Given the description of an element on the screen output the (x, y) to click on. 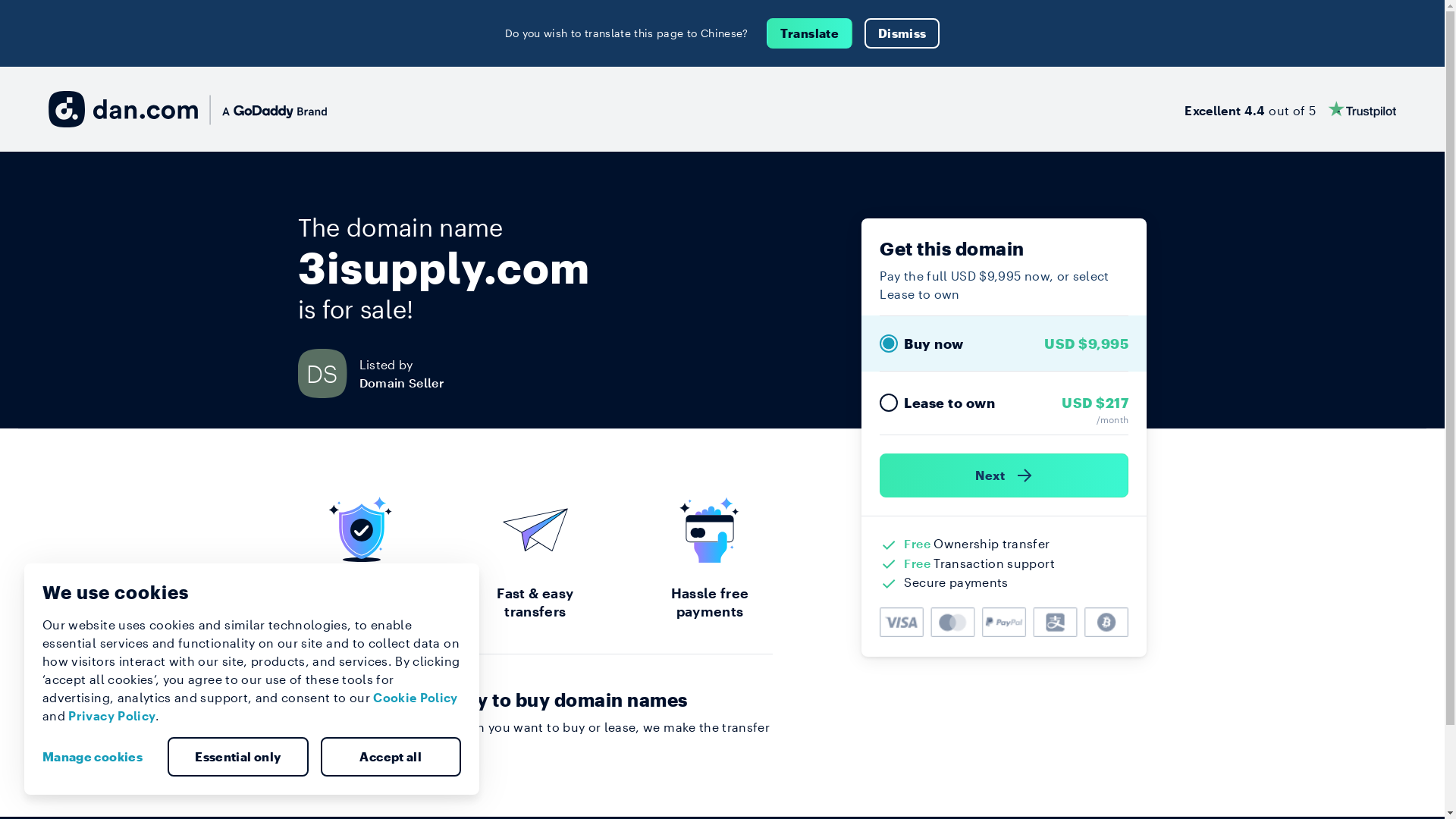
Privacy Policy Element type: text (111, 715)
Next
) Element type: text (1003, 475)
Dismiss Element type: text (901, 33)
Translate Element type: text (809, 33)
Accept all Element type: text (390, 756)
Essential only Element type: text (237, 756)
Cookie Policy Element type: text (415, 697)
Excellent 4.4 out of 5 Element type: text (1290, 109)
Manage cookies Element type: text (98, 756)
